Given the description of an element on the screen output the (x, y) to click on. 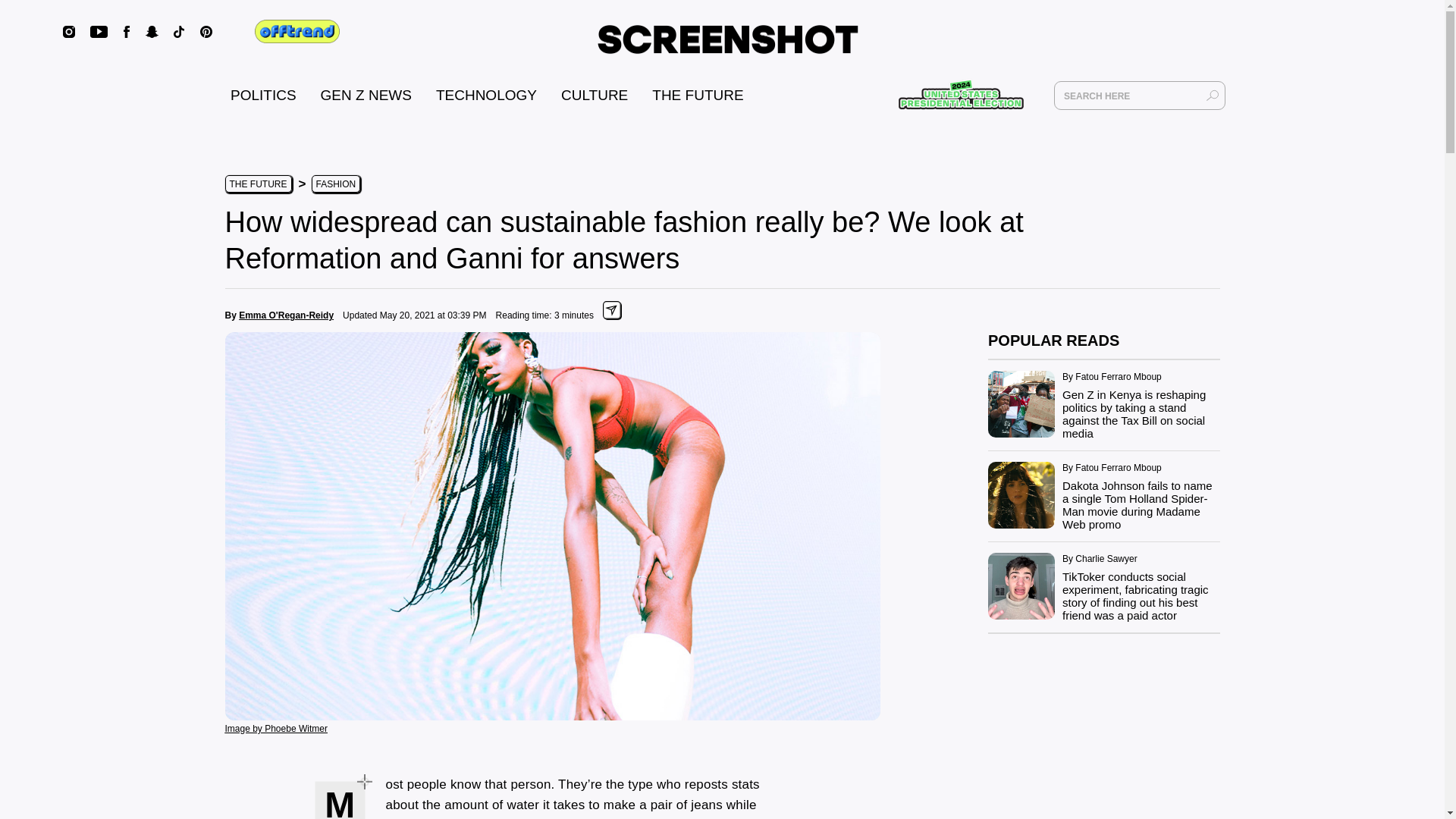
THE FUTURE (697, 94)
TECHNOLOGY (486, 94)
POLITICS (263, 94)
CULTURE (593, 94)
Image by Phoebe Witmer (275, 727)
Emma O'Regan-Reidy (285, 315)
GEN Z NEWS (366, 94)
THE FUTURE (257, 184)
FASHION (335, 184)
